Given the description of an element on the screen output the (x, y) to click on. 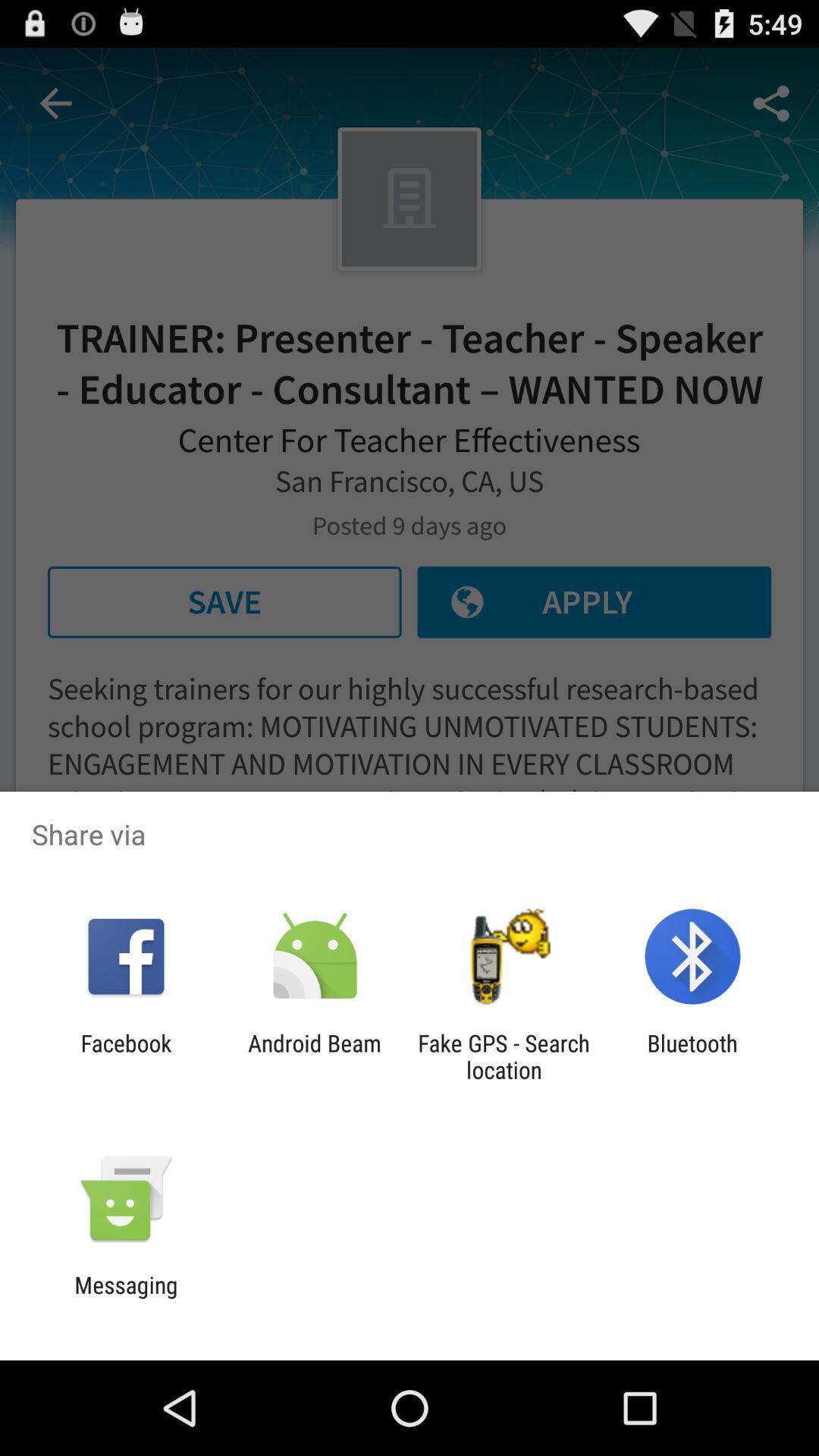
select facebook (125, 1056)
